Given the description of an element on the screen output the (x, y) to click on. 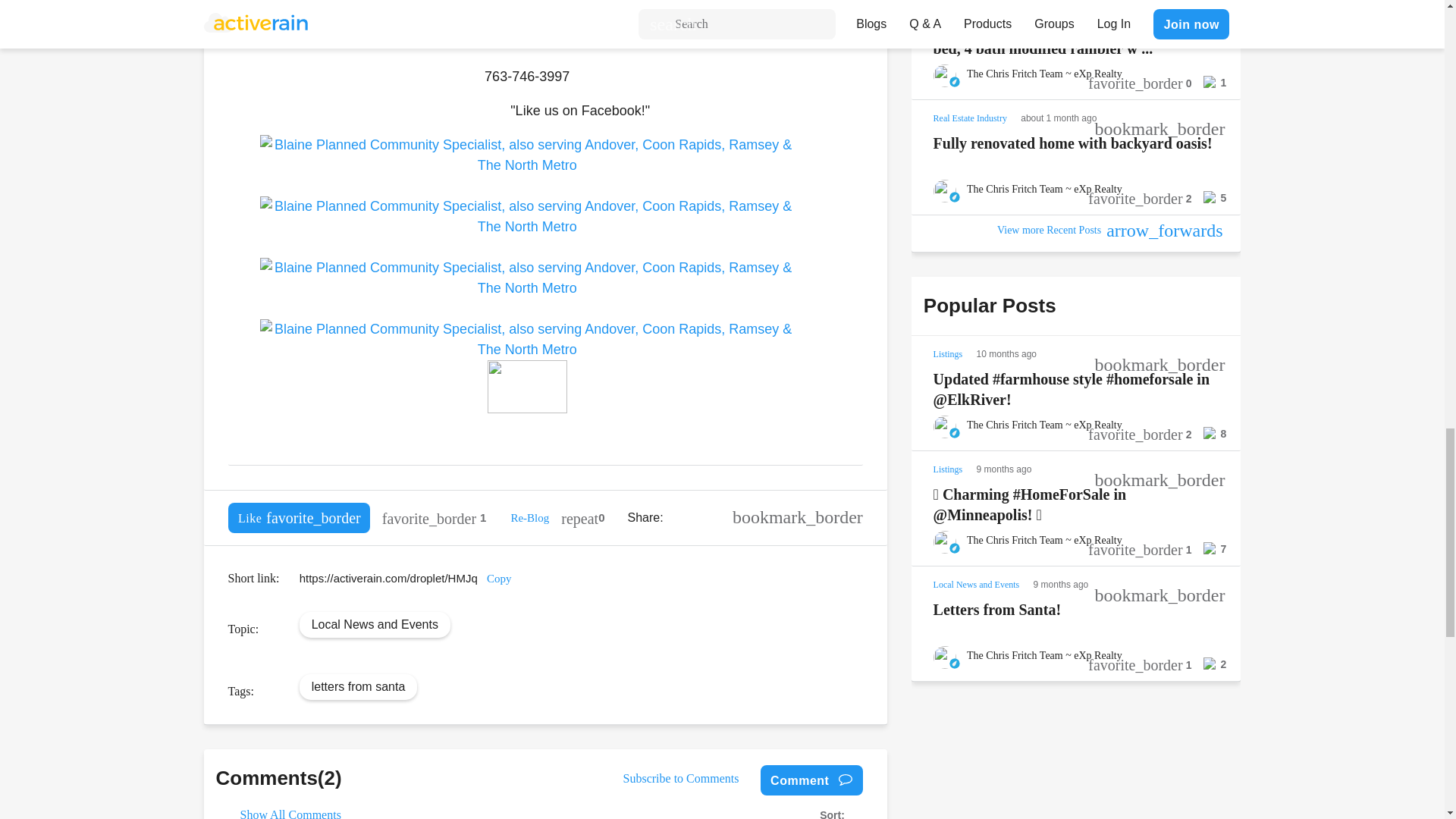
Re-Blog (529, 517)
Search Homes For Sale (526, 42)
repeat 0 (582, 517)
This entry hasn't been re-blogged (582, 517)
